Given the description of an element on the screen output the (x, y) to click on. 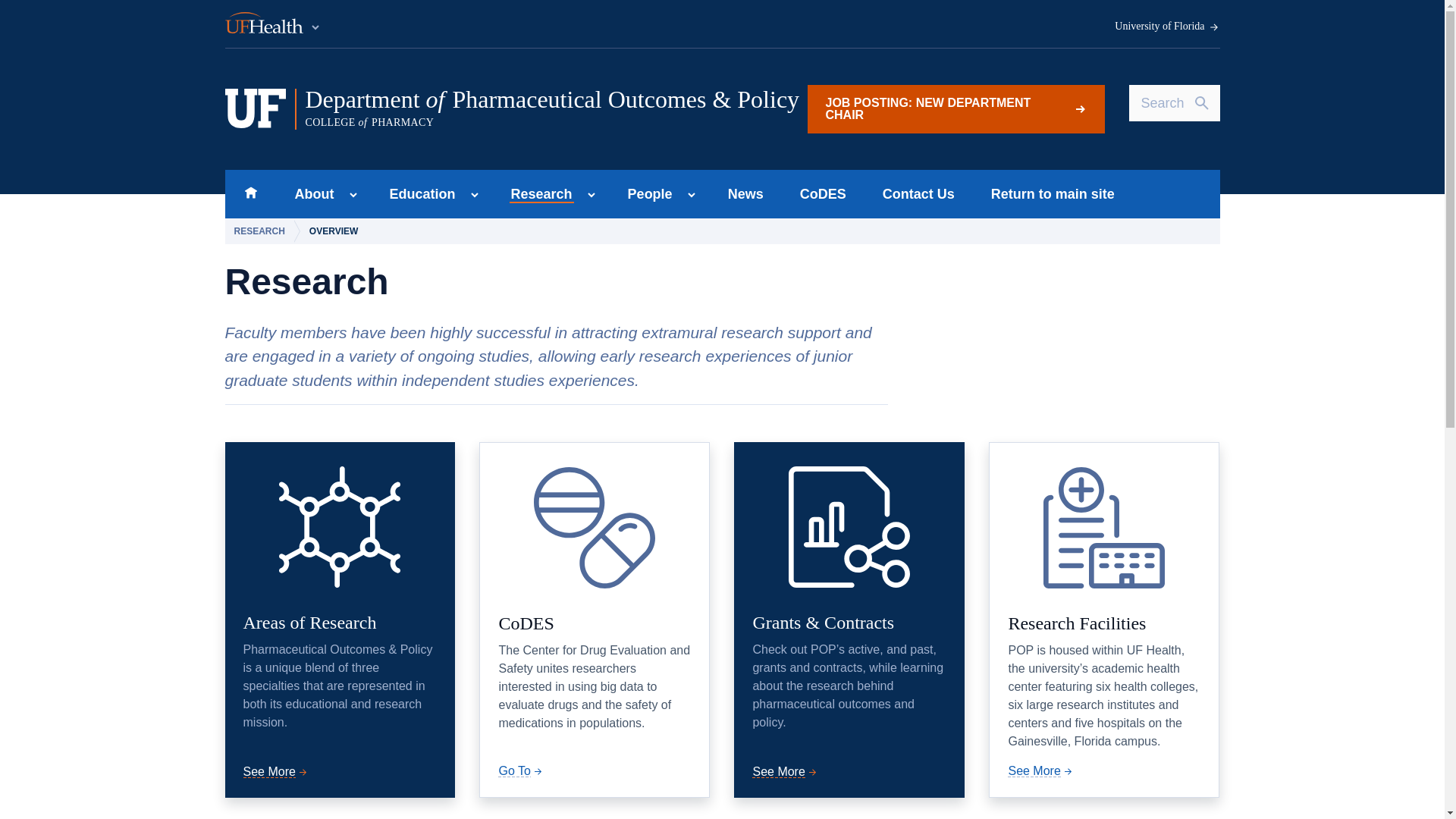
University of Florida (1167, 26)
About (536, 193)
See More (309, 193)
Education (276, 771)
Skip to main content (417, 193)
Go To (250, 193)
UF Health (520, 770)
Skip to main content (272, 24)
See More (954, 109)
See More (785, 771)
